Given the description of an element on the screen output the (x, y) to click on. 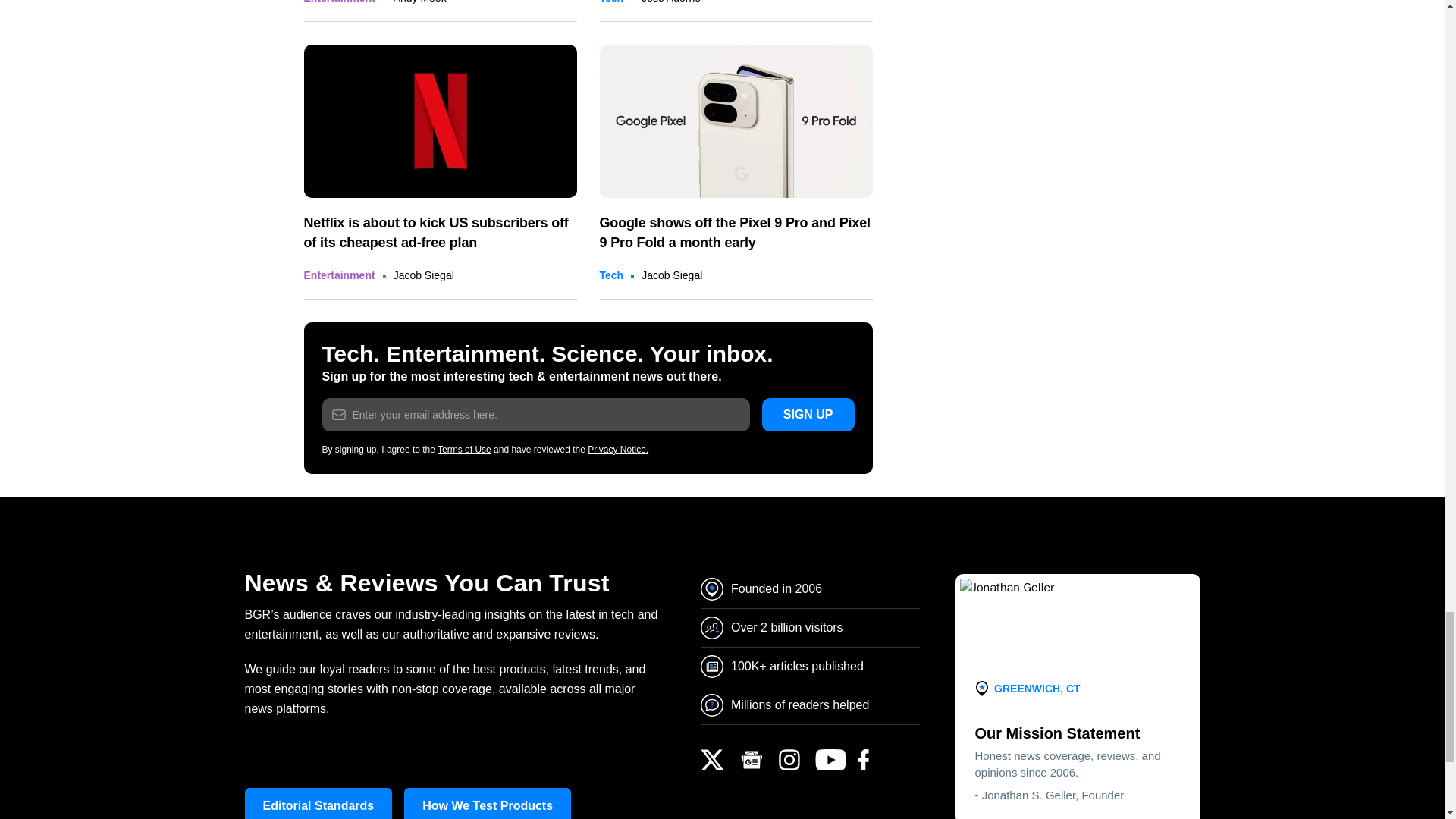
Pixel 9 Pro Fold (735, 122)
Posts by Jacob Siegal (423, 275)
Posts by Andy Meek (419, 2)
Netflix Basic (439, 122)
